Given the description of an element on the screen output the (x, y) to click on. 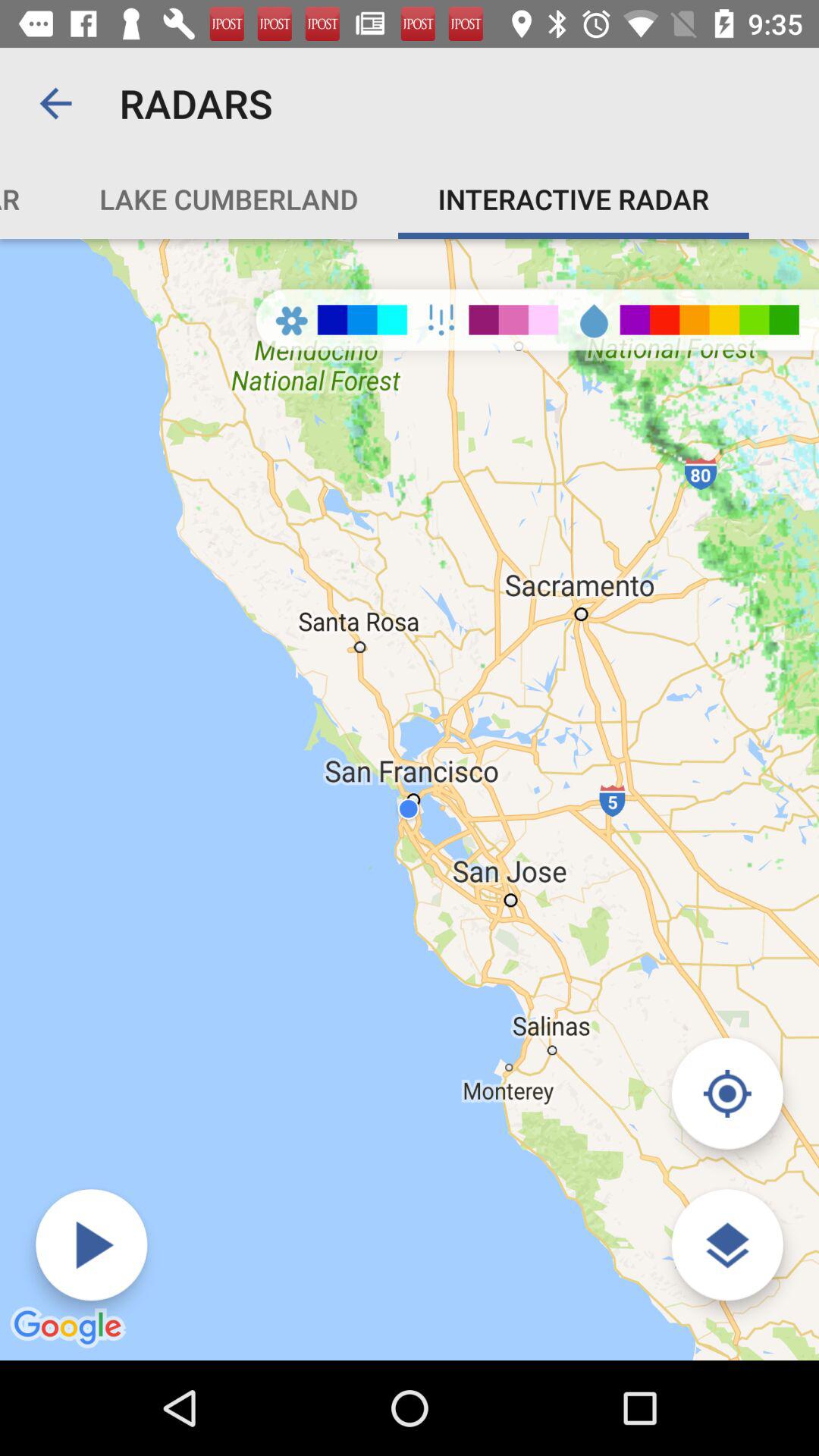
tap icon below lake cumberland icon (91, 1244)
